Given the description of an element on the screen output the (x, y) to click on. 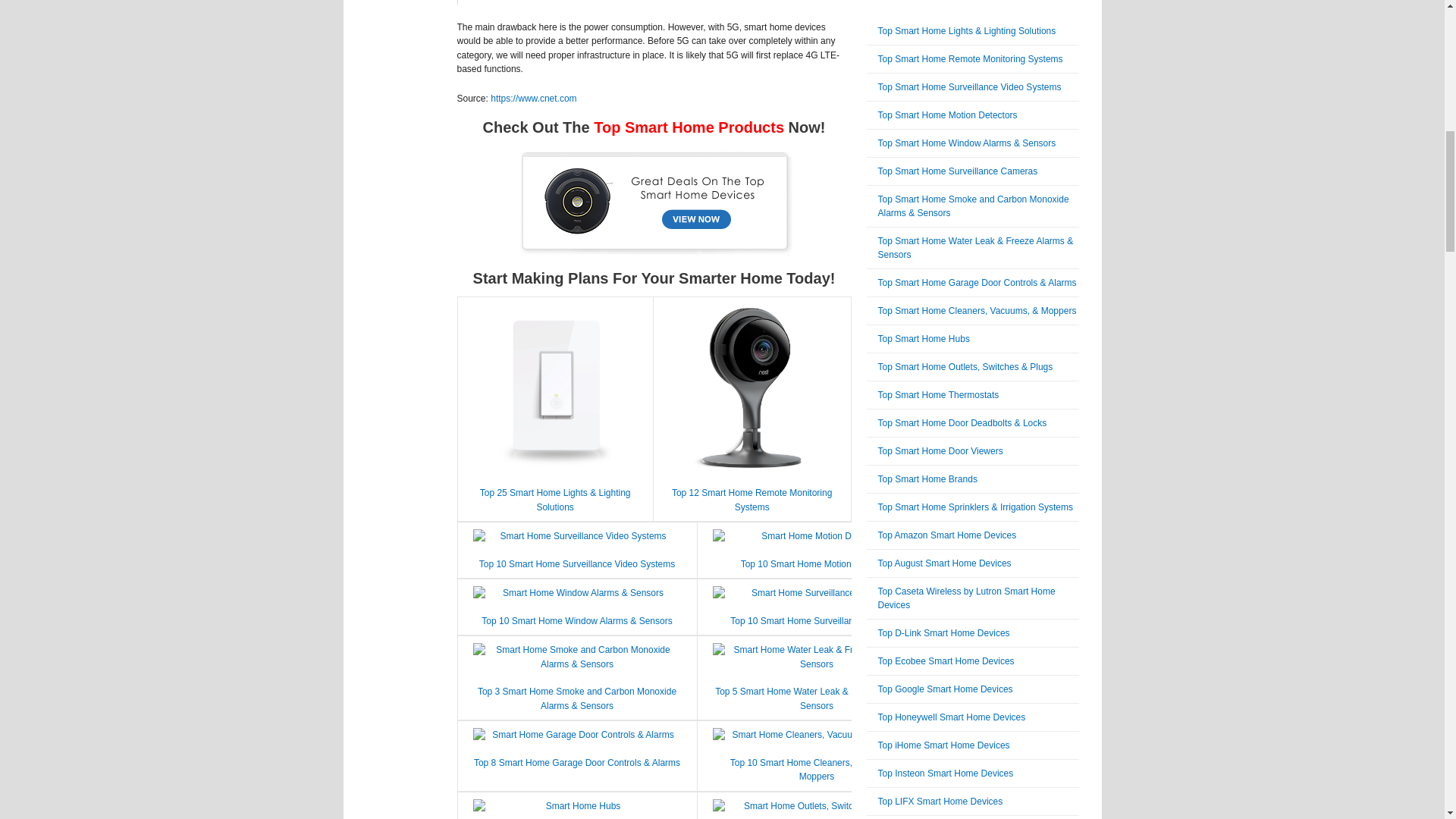
Top Smart Home Products (689, 126)
Top 10 Smart Home Motion Detectors (817, 563)
Top 12 Smart Home Remote Monitoring Systems (751, 499)
Top 10 Smart Home Surveillance Cameras (816, 620)
Top 10 Smart Home Surveillance Video Systems (577, 563)
